Given the description of an element on the screen output the (x, y) to click on. 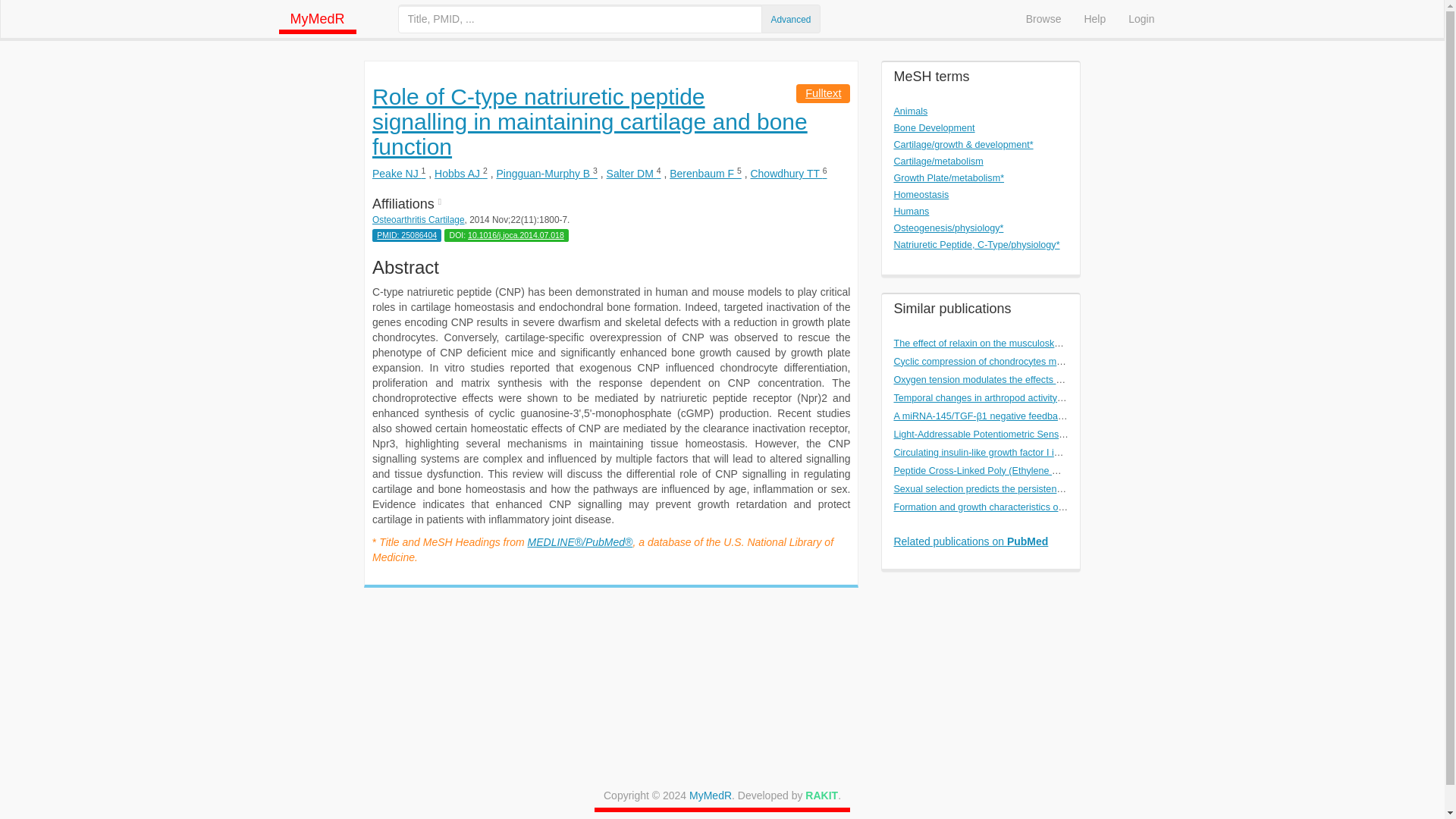
Advanced (790, 19)
The effect of relaxin on the musculoskeletal system (1001, 343)
Berenbaum F 5 (705, 173)
Animals (910, 111)
The effect of relaxin on the musculoskeletal system (1001, 343)
Help (1093, 18)
Browse (1043, 18)
Affiliations  (611, 196)
Bone Development (933, 127)
PMID: 25086404 (406, 234)
Hobbs AJ 2 (460, 173)
